Given the description of an element on the screen output the (x, y) to click on. 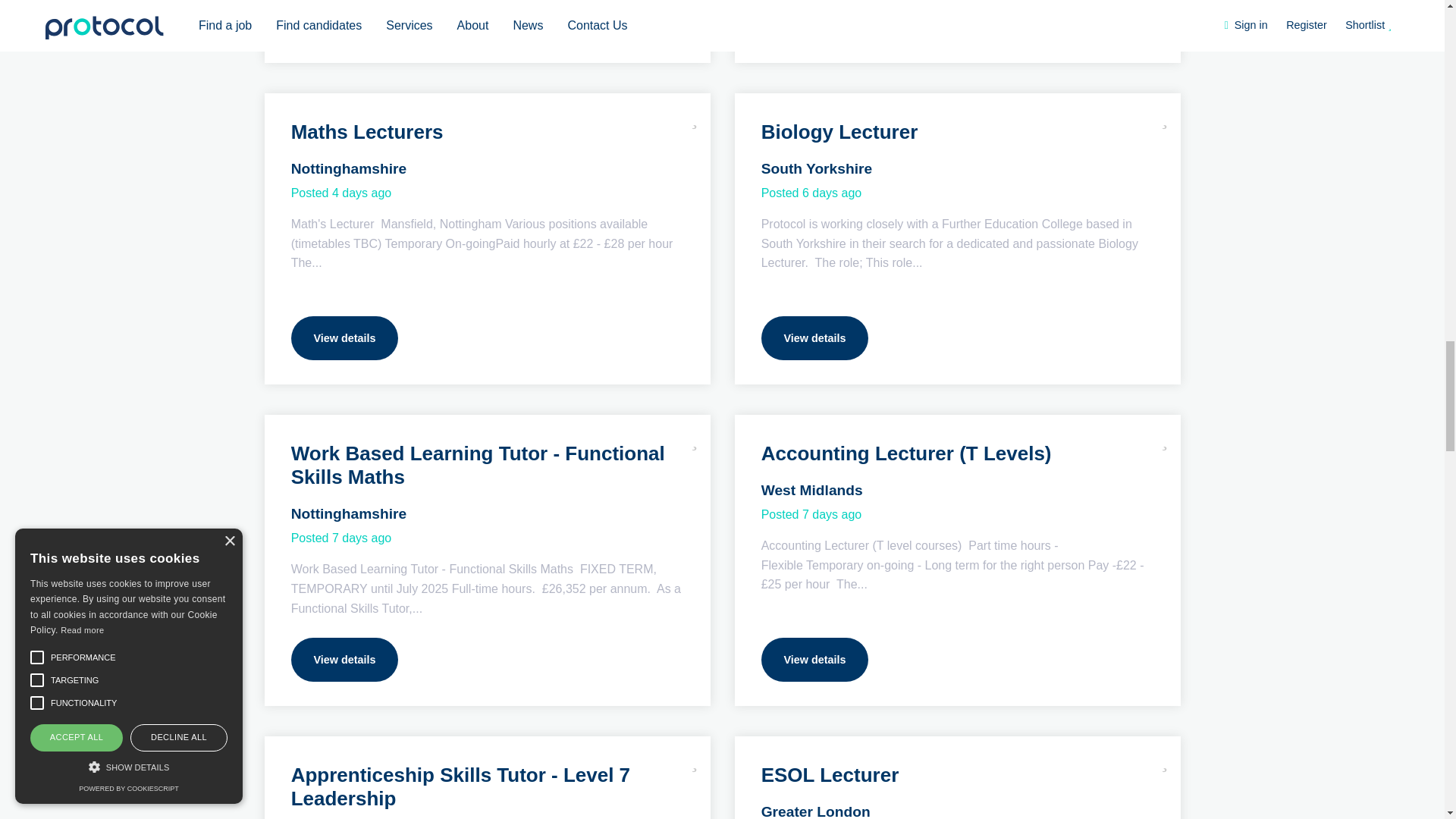
Add this job to shortlist (1164, 438)
Add this job to shortlist (1164, 116)
Add this job to shortlist (1164, 759)
Add this job to shortlist (694, 116)
Add this job to shortlist (694, 759)
Add this job to shortlist (694, 438)
